Given the description of an element on the screen output the (x, y) to click on. 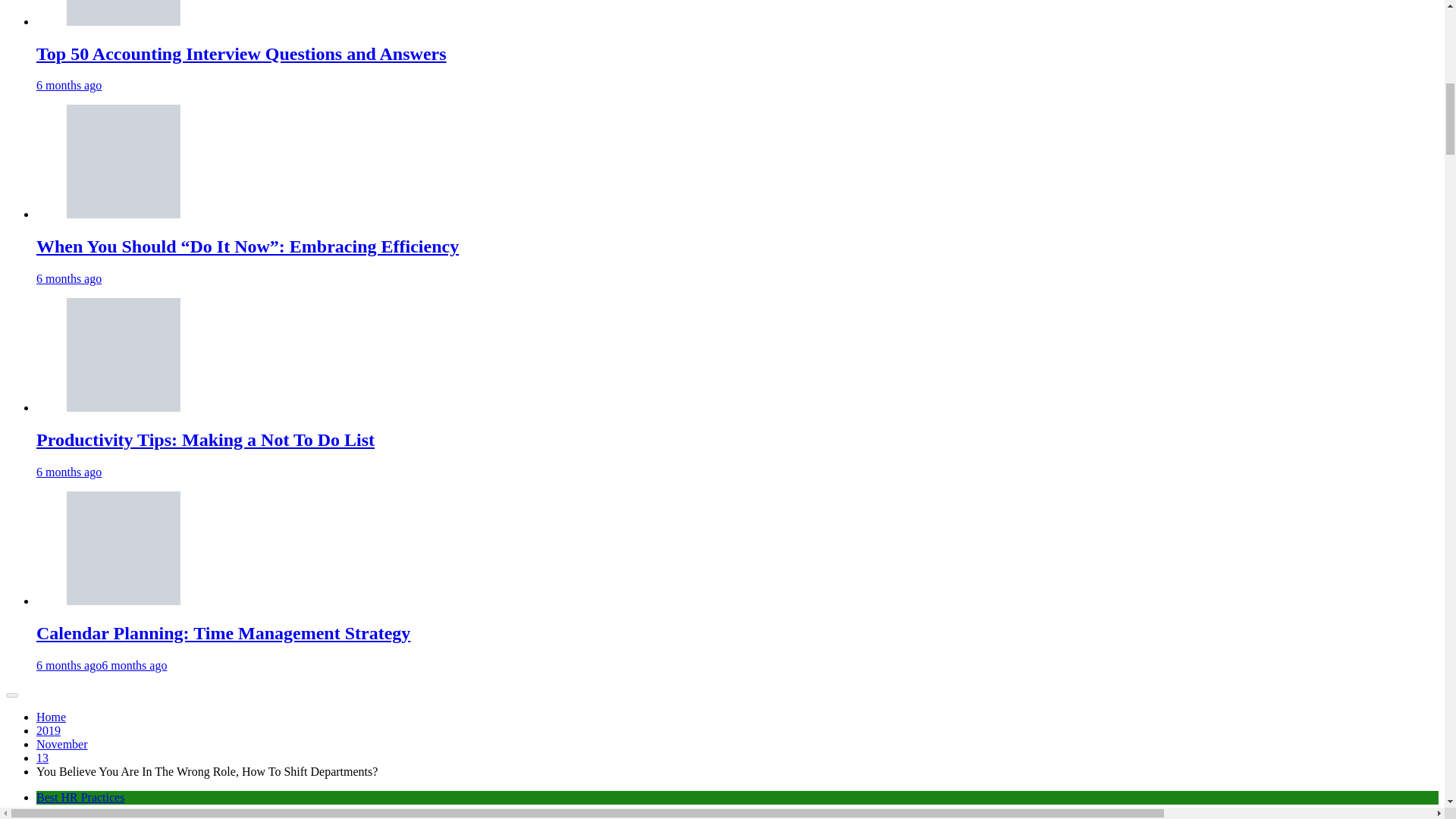
6 months ago (68, 278)
13 (42, 757)
Top 50 Accounting Interview Questions and Answers (241, 53)
November (61, 744)
Calendar Planning: Time Management Strategy (223, 632)
2019 (48, 730)
6 months ago (68, 472)
6 months ago6 months ago (101, 665)
Best HR Practices (79, 797)
Top 50 Accounting Interview Questions and Answers (241, 53)
